Given the description of an element on the screen output the (x, y) to click on. 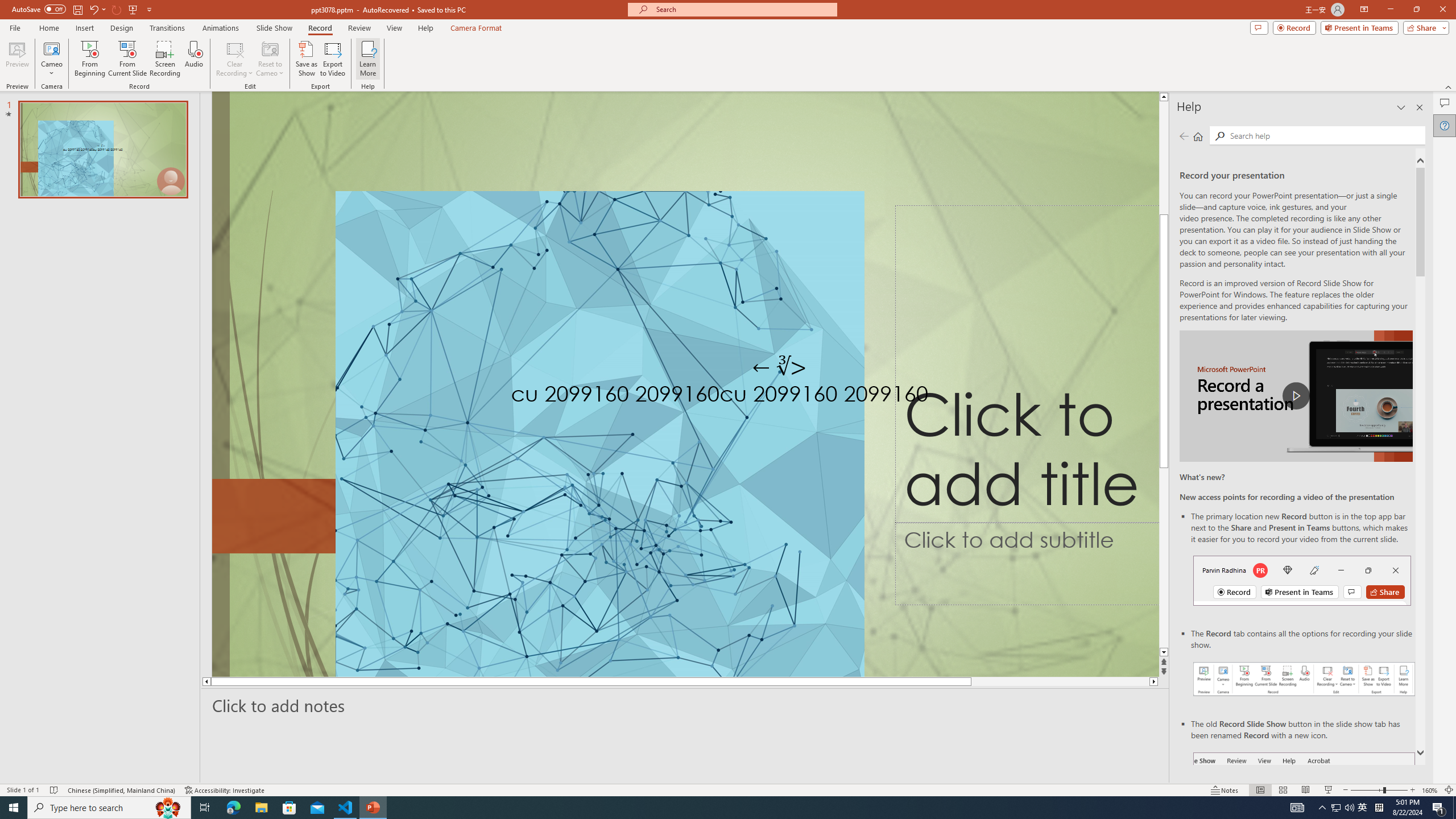
TextBox 61 (790, 396)
TextBox 7 (779, 367)
